Given the description of an element on the screen output the (x, y) to click on. 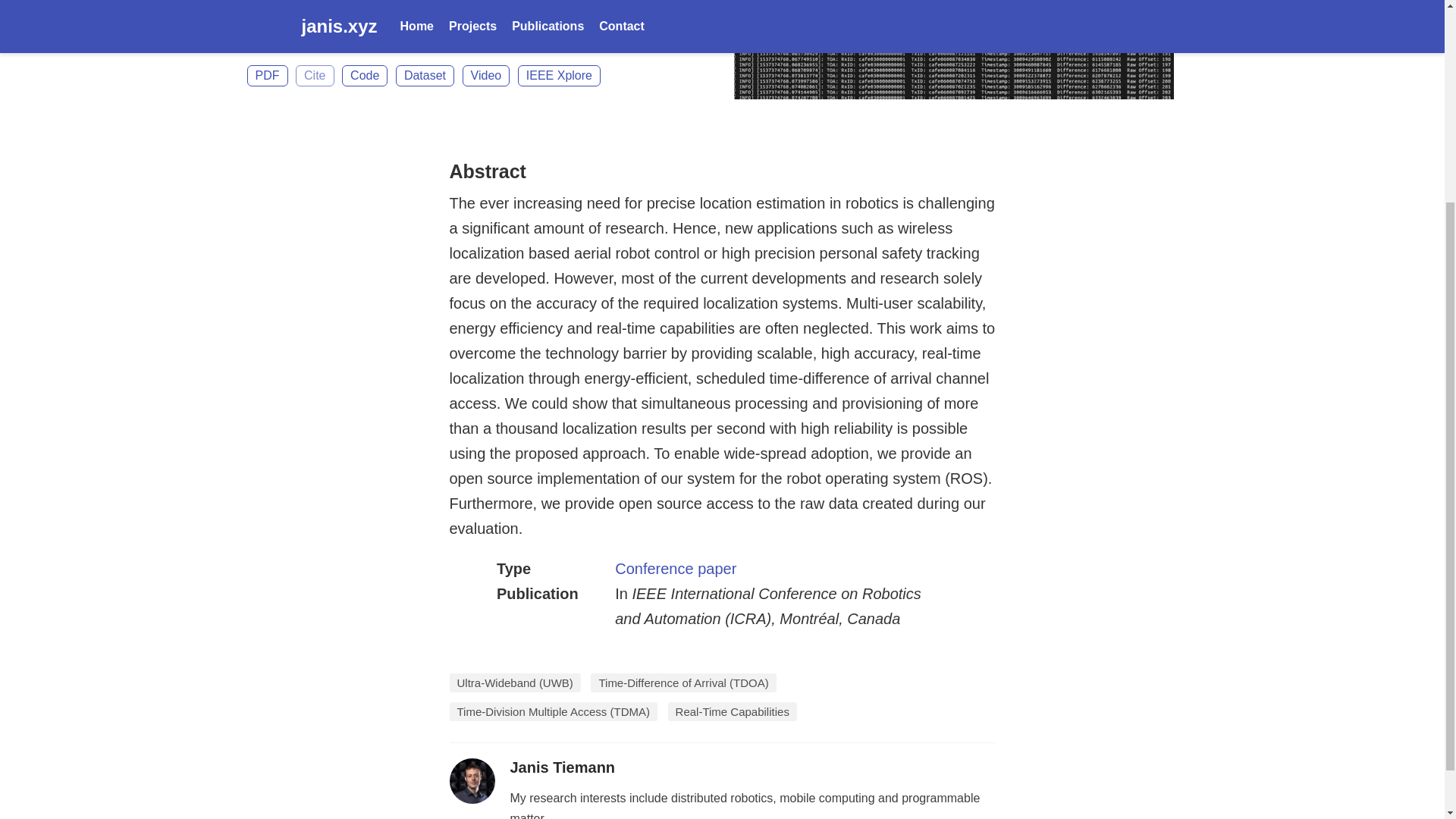
Real-Time Capabilities (732, 711)
Cite (314, 75)
Video (487, 75)
Code (364, 75)
Janis Tiemann (283, 23)
IEEE Xplore (558, 75)
Janis Tiemann (561, 767)
Conference paper (675, 568)
PDF (267, 75)
Dataset (425, 75)
